Given the description of an element on the screen output the (x, y) to click on. 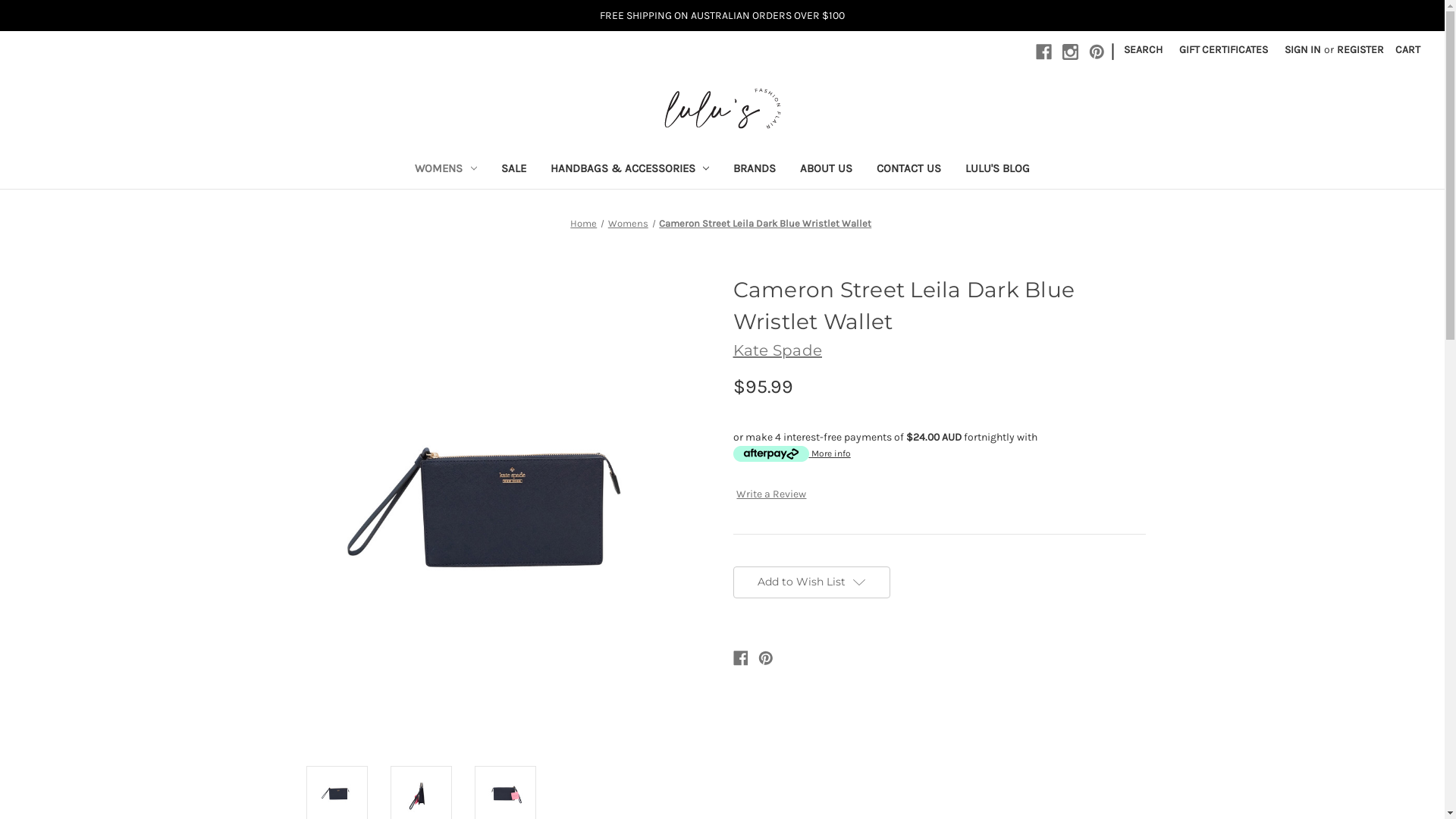
Cameron Street Leila Dark Blue Wristlet Wallet Element type: text (764, 223)
REGISTER Element type: text (1360, 49)
Write a Review Element type: text (771, 494)
SEARCH Element type: text (1142, 49)
BRANDS Element type: text (754, 169)
LULU'S BLOG Element type: text (997, 169)
Kate Spade Cameron Street Leila Dark Blue Wristlet Wallet. Element type: hover (504, 507)
Add to Wish List Element type: text (811, 582)
GIFT CERTIFICATES Element type: text (1223, 49)
More info Element type: text (791, 453)
CONTACT US Element type: text (908, 169)
Pinterest Element type: hover (765, 657)
WOMENS Element type: text (445, 169)
SIGN IN Element type: text (1302, 49)
Lulu's Fashion Flair Element type: hover (722, 108)
Home Element type: text (583, 223)
Facebook Element type: hover (739, 657)
ABOUT US Element type: text (825, 169)
SALE Element type: text (512, 169)
Womens Element type: text (628, 223)
CART Element type: text (1407, 49)
HANDBAGS & ACCESSORIES Element type: text (629, 169)
Kate Spade Element type: text (777, 350)
